Given the description of an element on the screen output the (x, y) to click on. 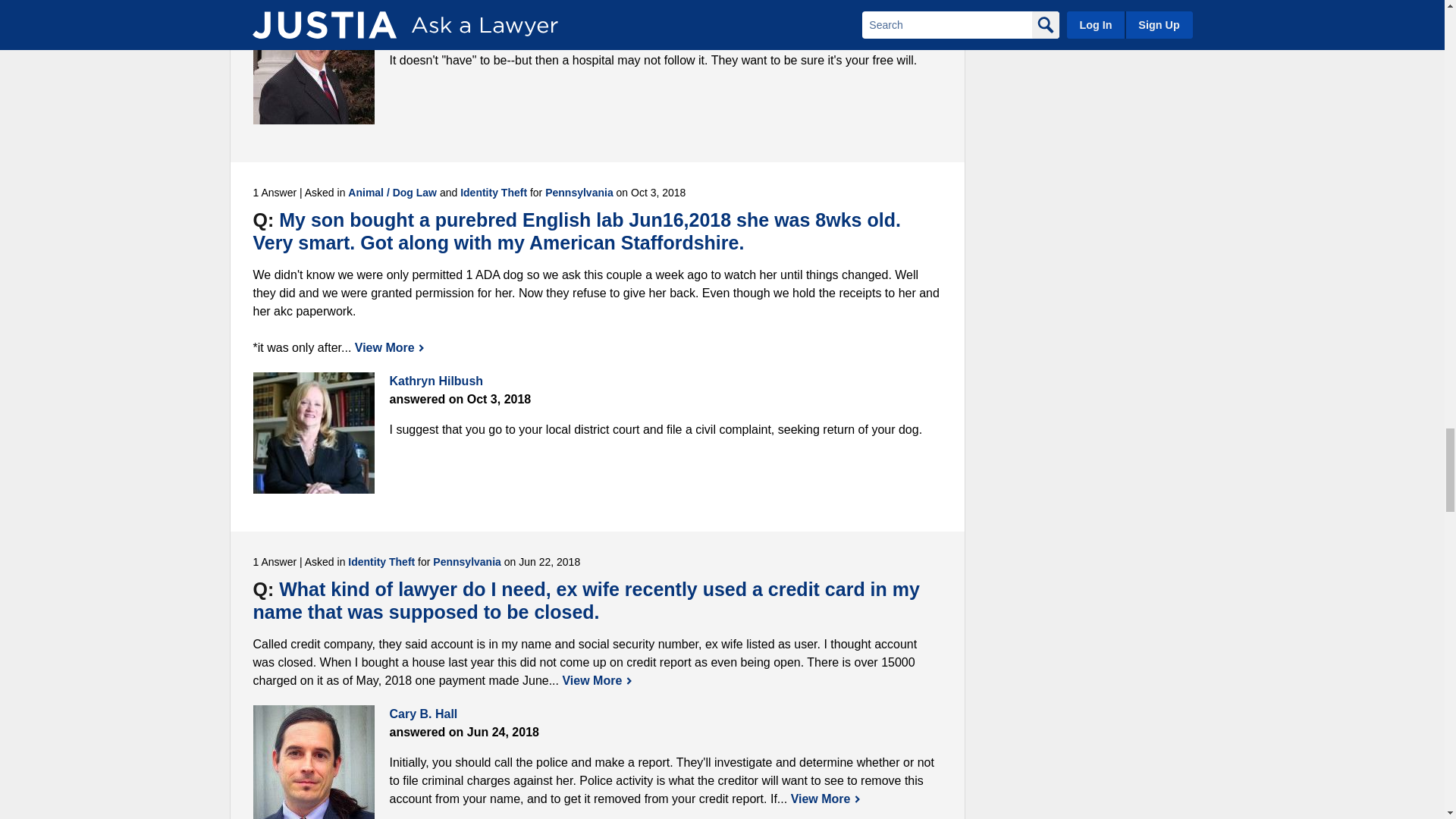
Cary B. Hall (313, 762)
Kathryn Hilbush (313, 432)
Peter N. Munsing (313, 63)
